Given the description of an element on the screen output the (x, y) to click on. 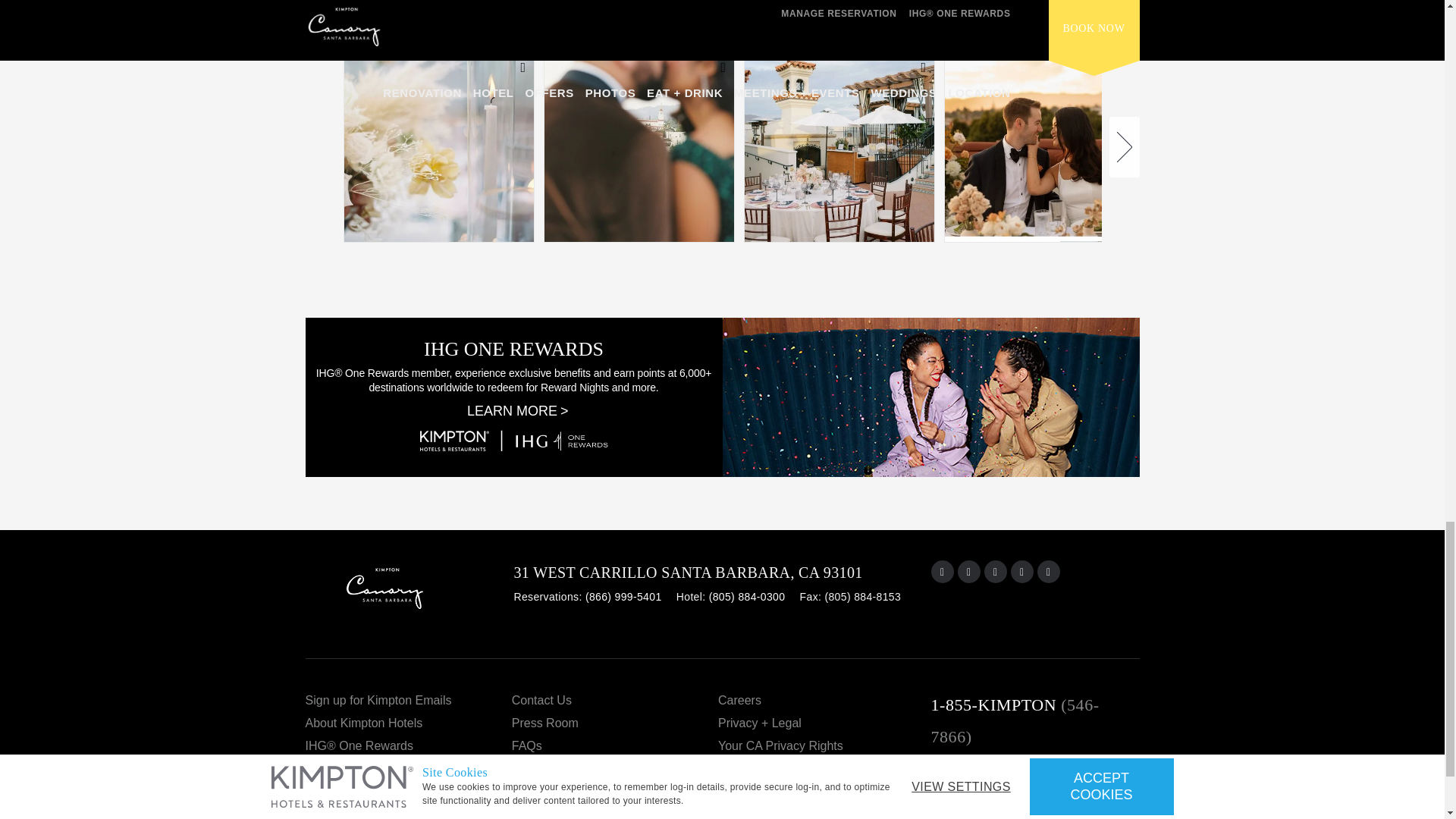
Kimpton Canary Hotel on pinterest (1021, 571)
Kimpton Canary Hotel on youtube (995, 571)
Home (408, 594)
Kimpton Canary Hotel on Twitter (1047, 571)
Kimpton Canary Hotel on Instagram (942, 571)
Kimpton Canary Hotel on Facebook (968, 571)
